Given the description of an element on the screen output the (x, y) to click on. 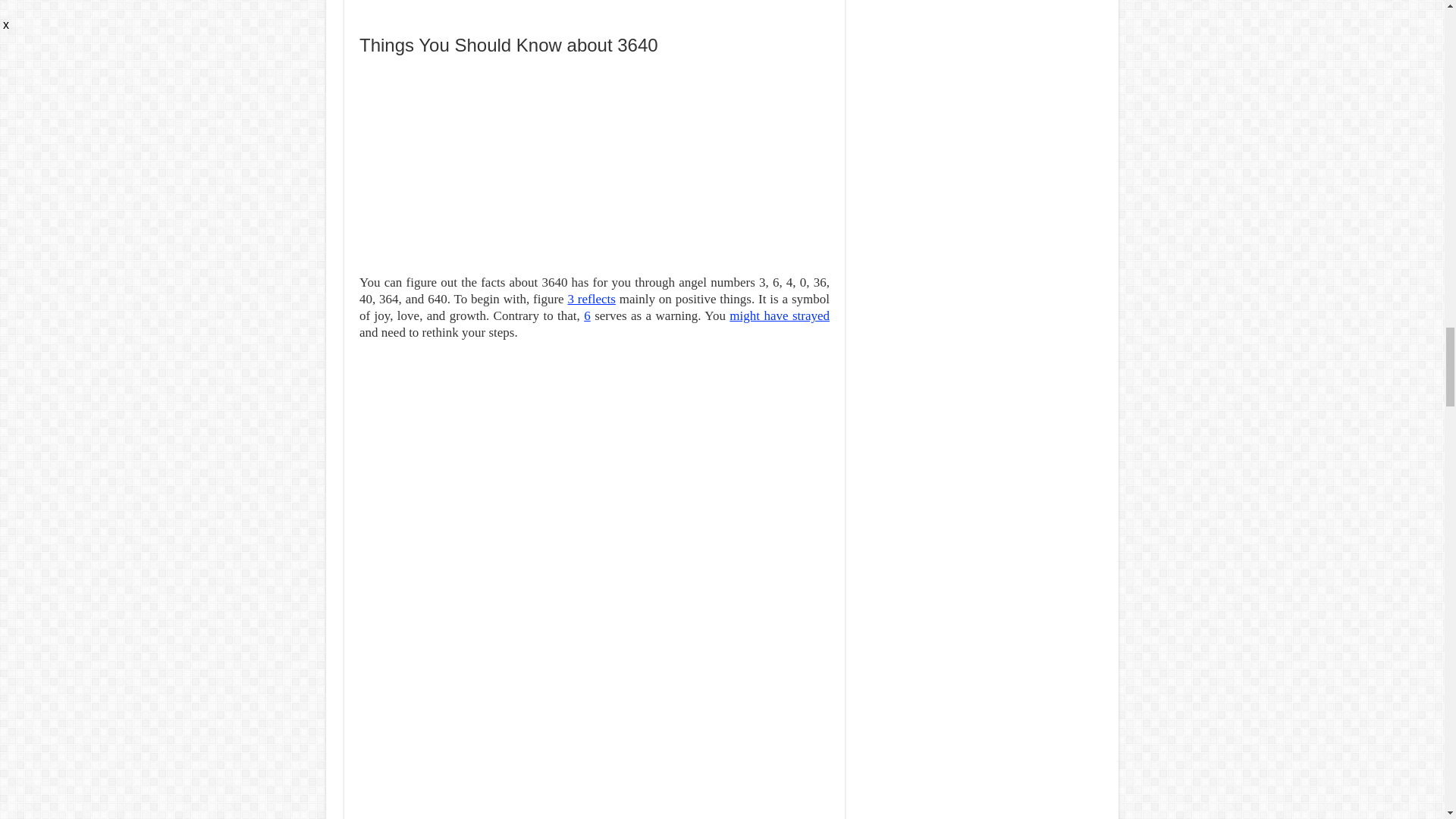
6 (587, 315)
3 reflects (590, 298)
might have strayed (779, 315)
